Given the description of an element on the screen output the (x, y) to click on. 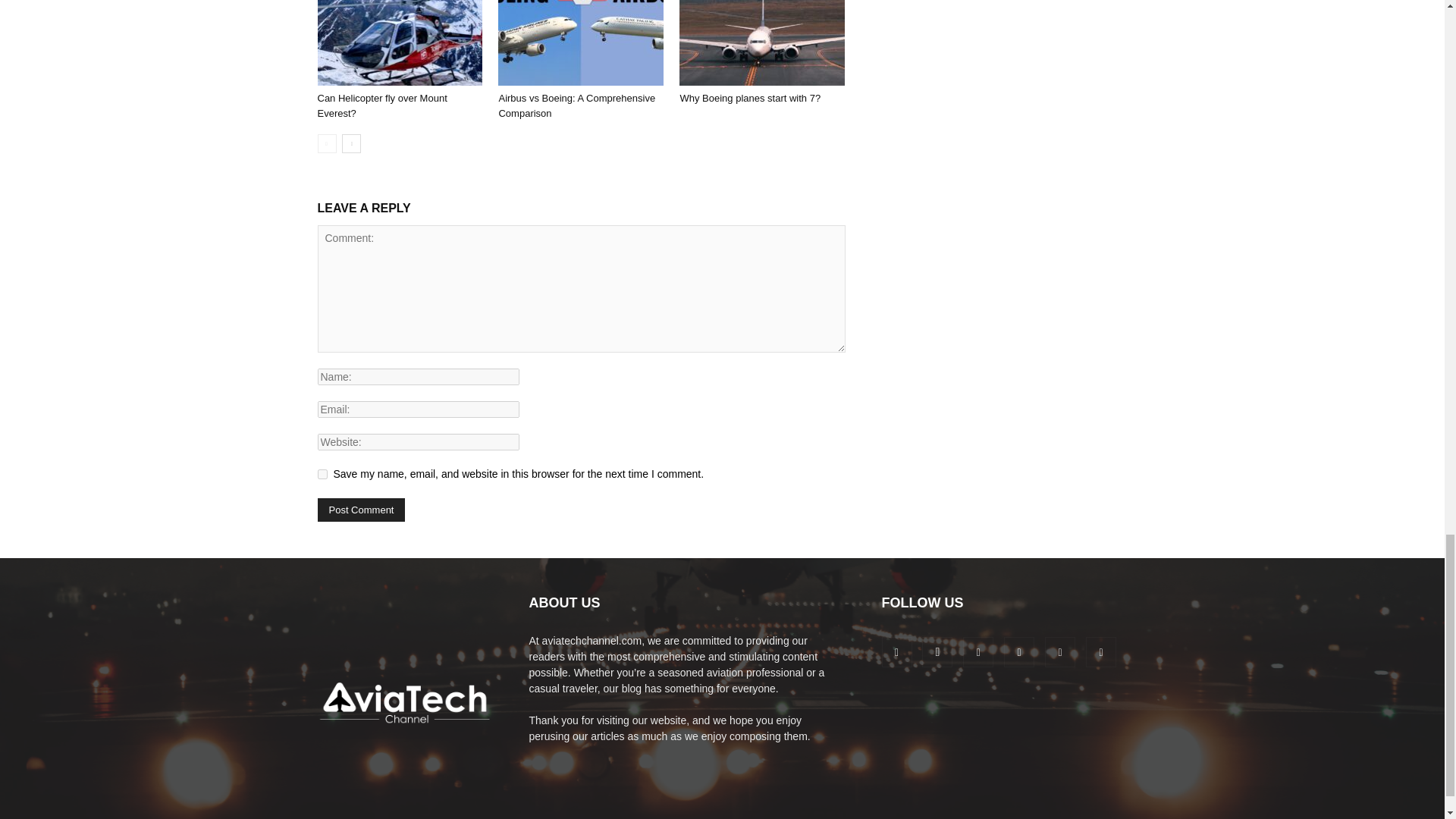
Post Comment (360, 509)
yes (321, 474)
